Given the description of an element on the screen output the (x, y) to click on. 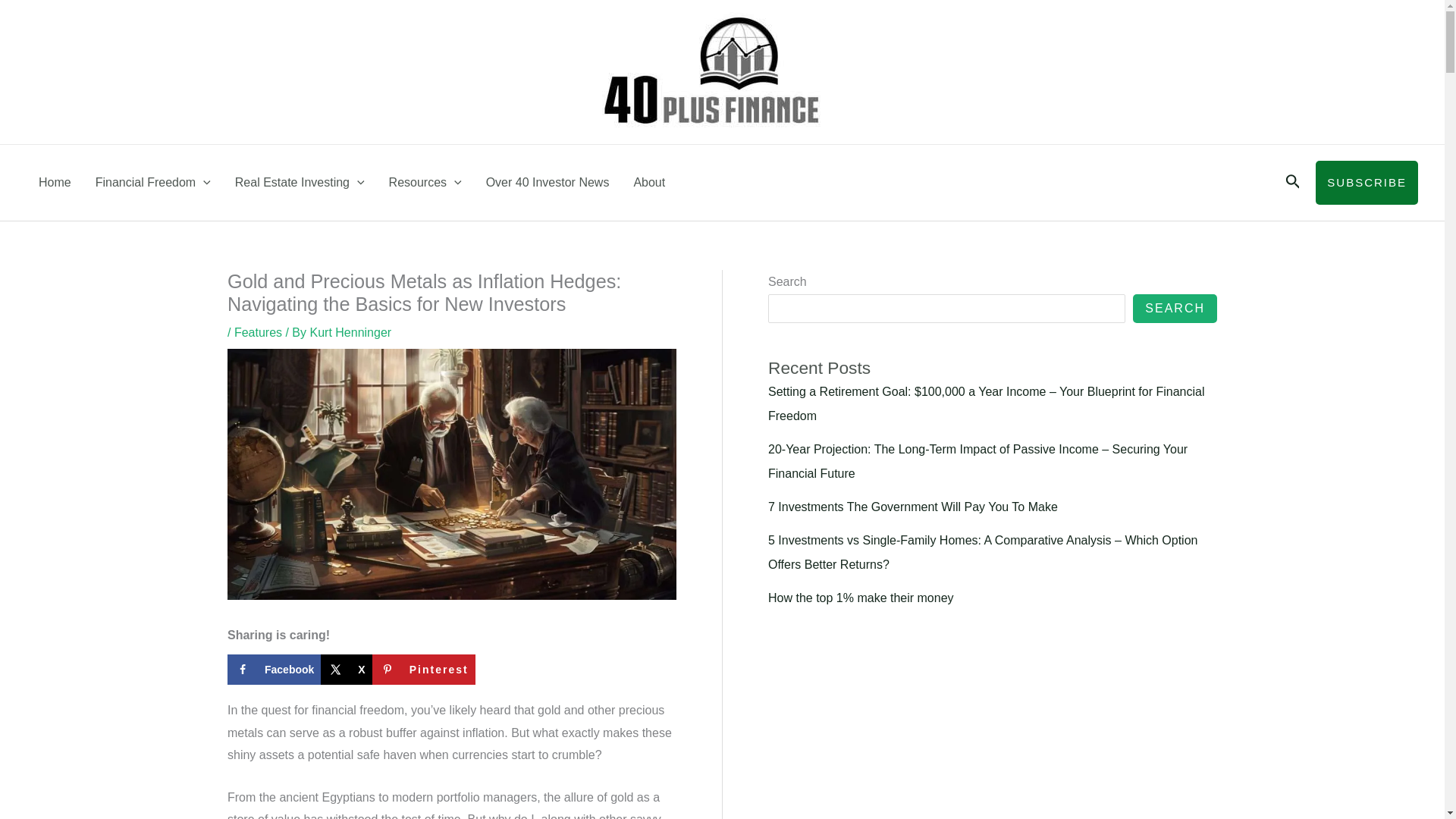
Financial Freedom (152, 182)
SUBSCRIBE (1367, 182)
Share on X (345, 669)
Save to Pinterest (424, 669)
View all posts by Kurt Henninger (349, 332)
Share on Facebook (273, 669)
Features (258, 332)
Real Estate Investing (299, 182)
Pinterest (424, 669)
X (345, 669)
